Given the description of an element on the screen output the (x, y) to click on. 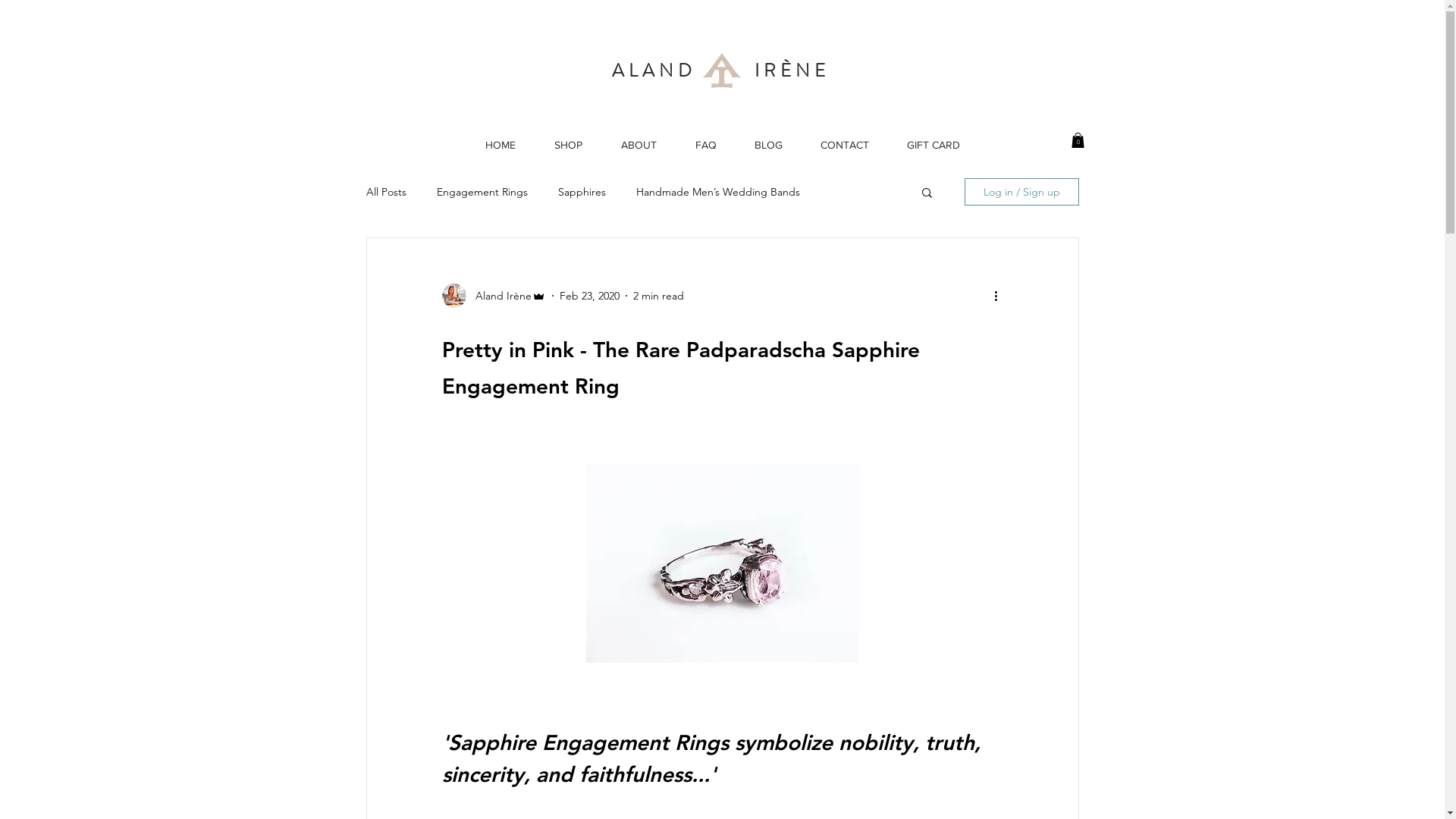
ABOUT Element type: text (639, 144)
All Posts Element type: text (385, 191)
FAQ Element type: text (705, 144)
BLOG Element type: text (768, 144)
CONTACT Element type: text (843, 144)
SHOP Element type: text (568, 144)
Sapphires Element type: text (581, 191)
Log in / Sign up Element type: text (1021, 191)
Engagement Rings Element type: text (481, 191)
GIFT CARD Element type: text (932, 144)
HOME Element type: text (499, 144)
0 Element type: text (1076, 139)
